Given the description of an element on the screen output the (x, y) to click on. 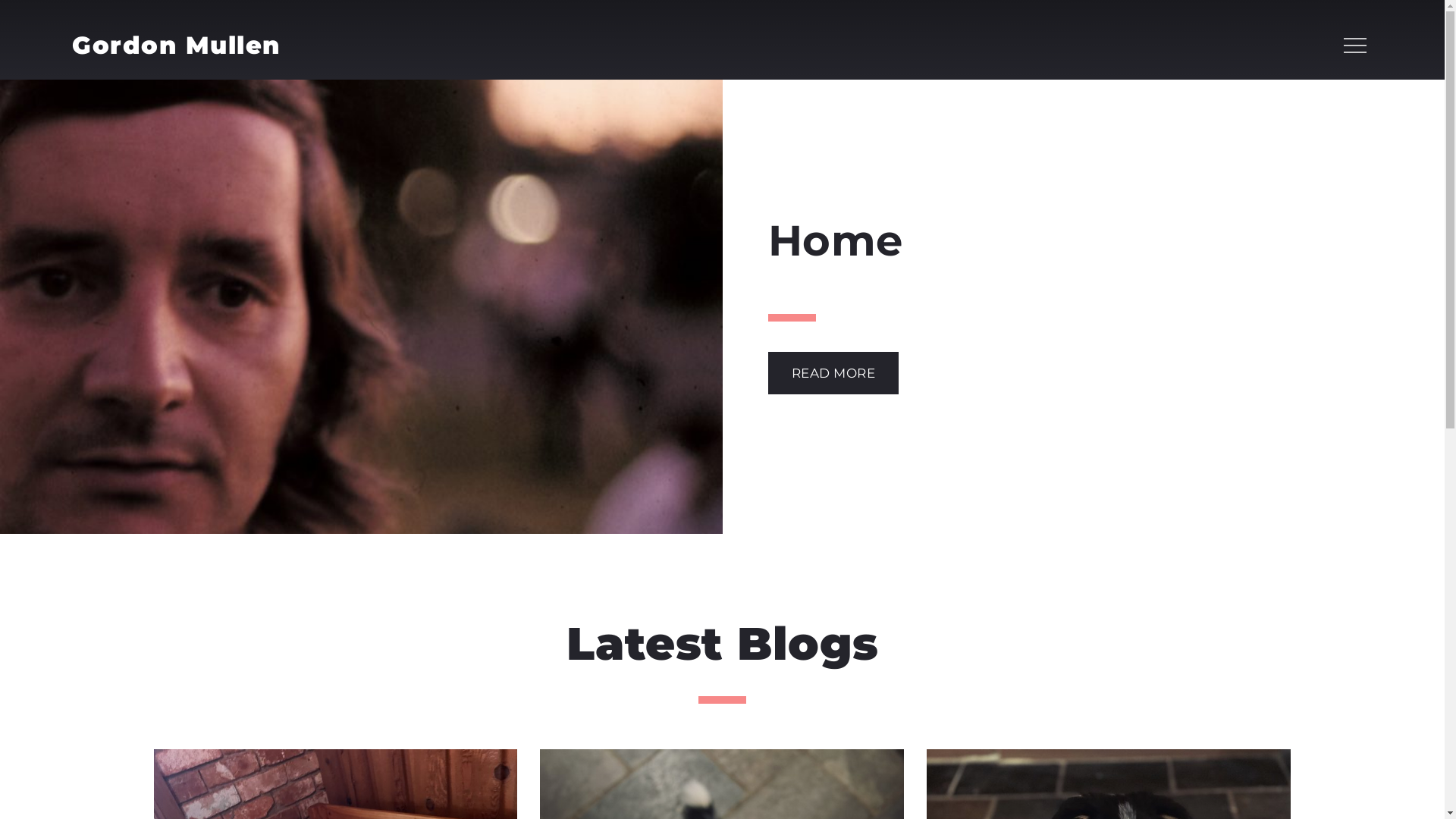
Home Element type: text (1006, 240)
Menu Element type: text (1353, 45)
Gordon Mullen Element type: text (176, 44)
READ MORE Element type: text (832, 372)
